Given the description of an element on the screen output the (x, y) to click on. 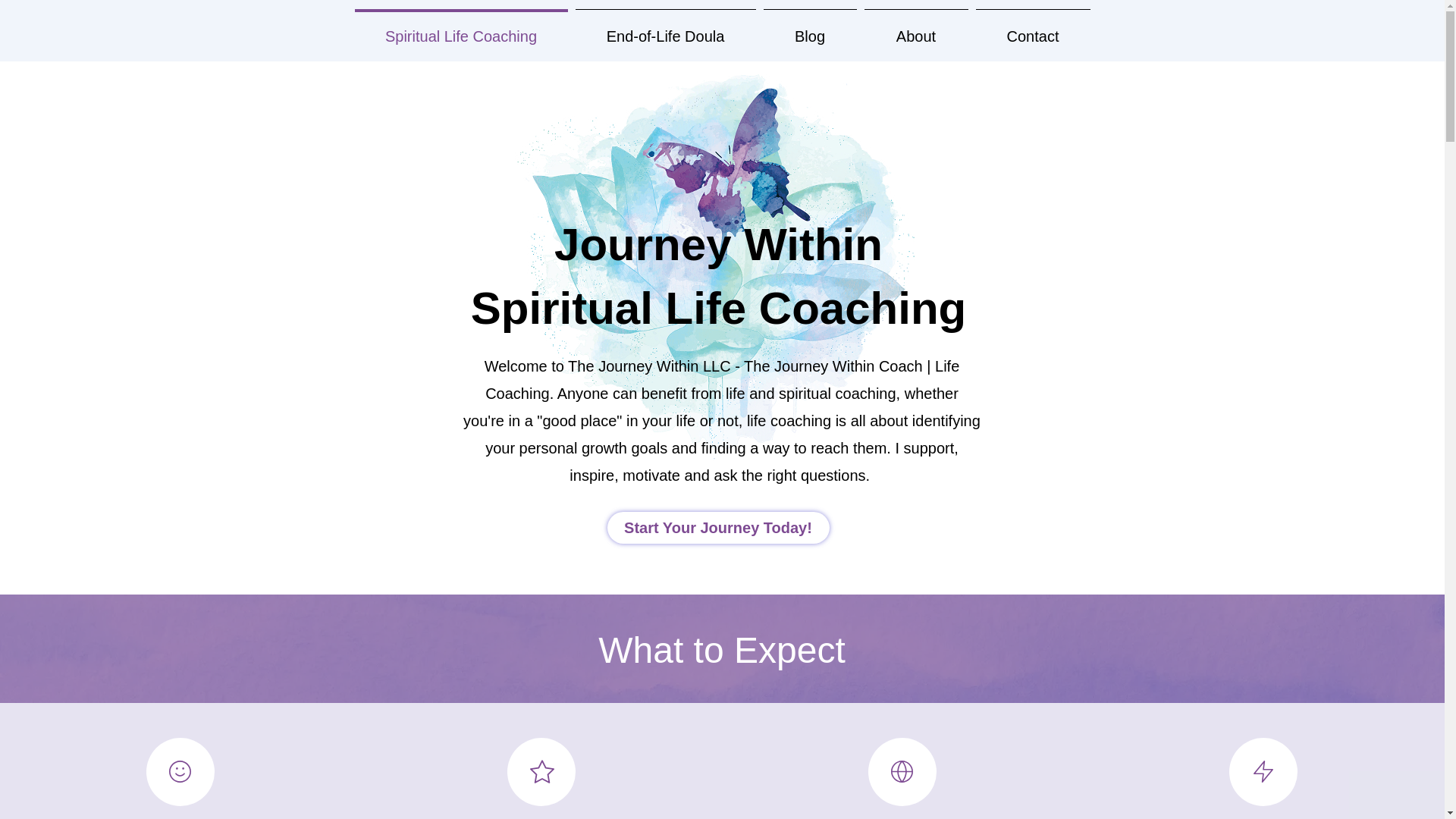
End-of-Life Doula (666, 29)
About (915, 29)
Contact (1033, 29)
Spiritual Life Coaching (460, 29)
Blog (810, 29)
Start Your Journey Today! (717, 527)
